Given the description of an element on the screen output the (x, y) to click on. 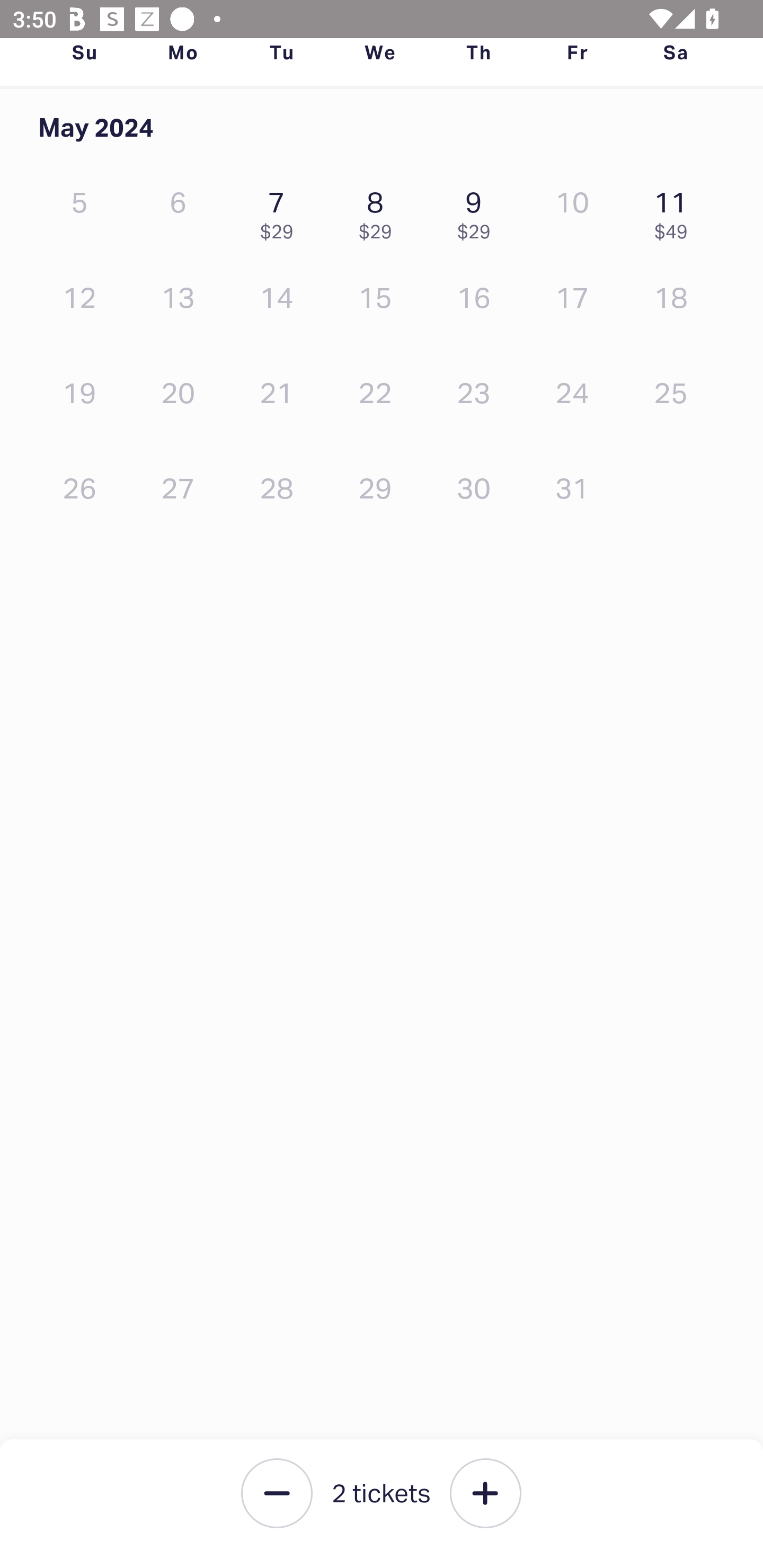
7 $29 (281, 210)
8 $29 (379, 210)
9 $29 (478, 210)
11 $49 (675, 210)
